Given the description of an element on the screen output the (x, y) to click on. 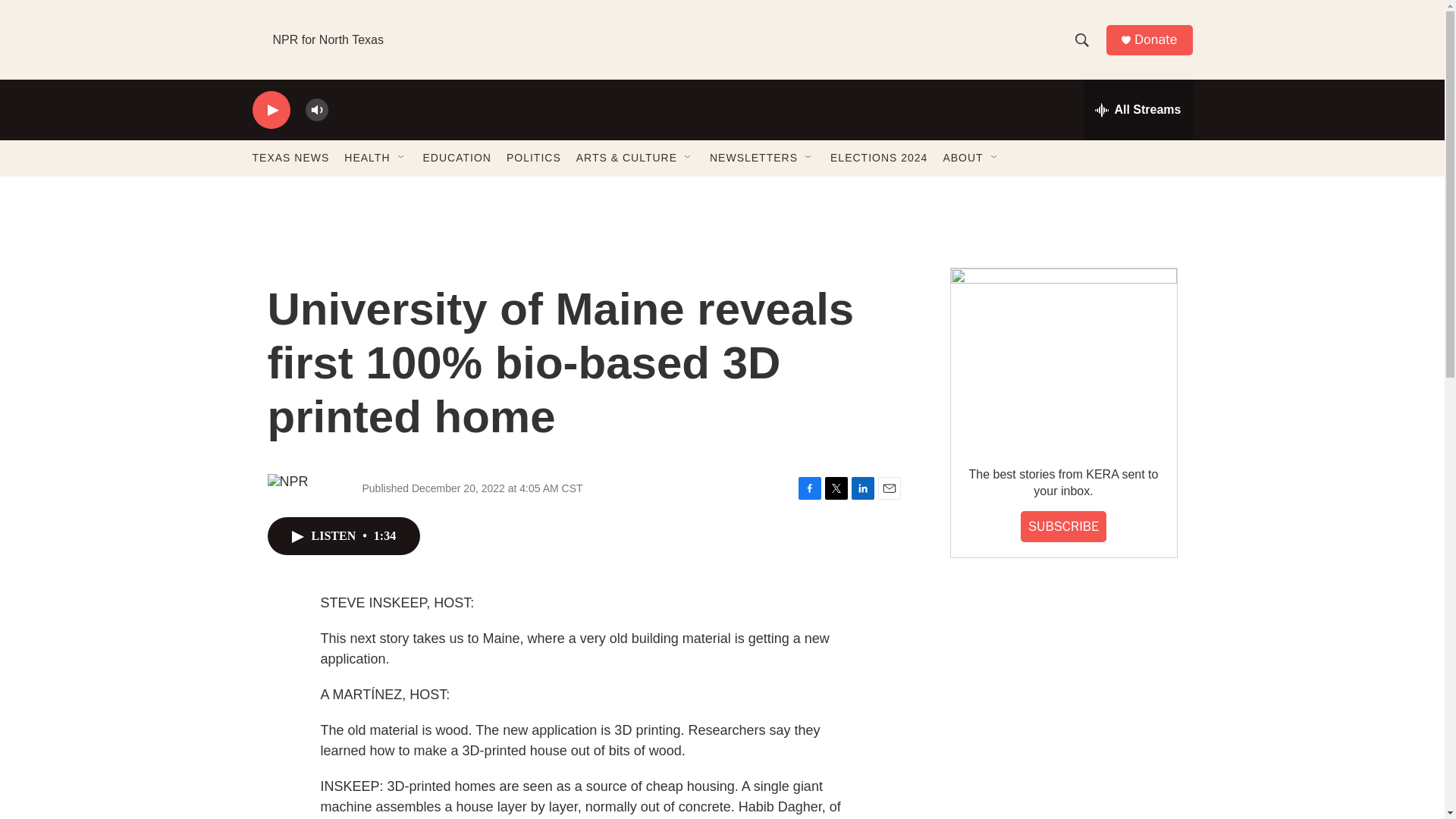
Show Search (1081, 39)
